Given the description of an element on the screen output the (x, y) to click on. 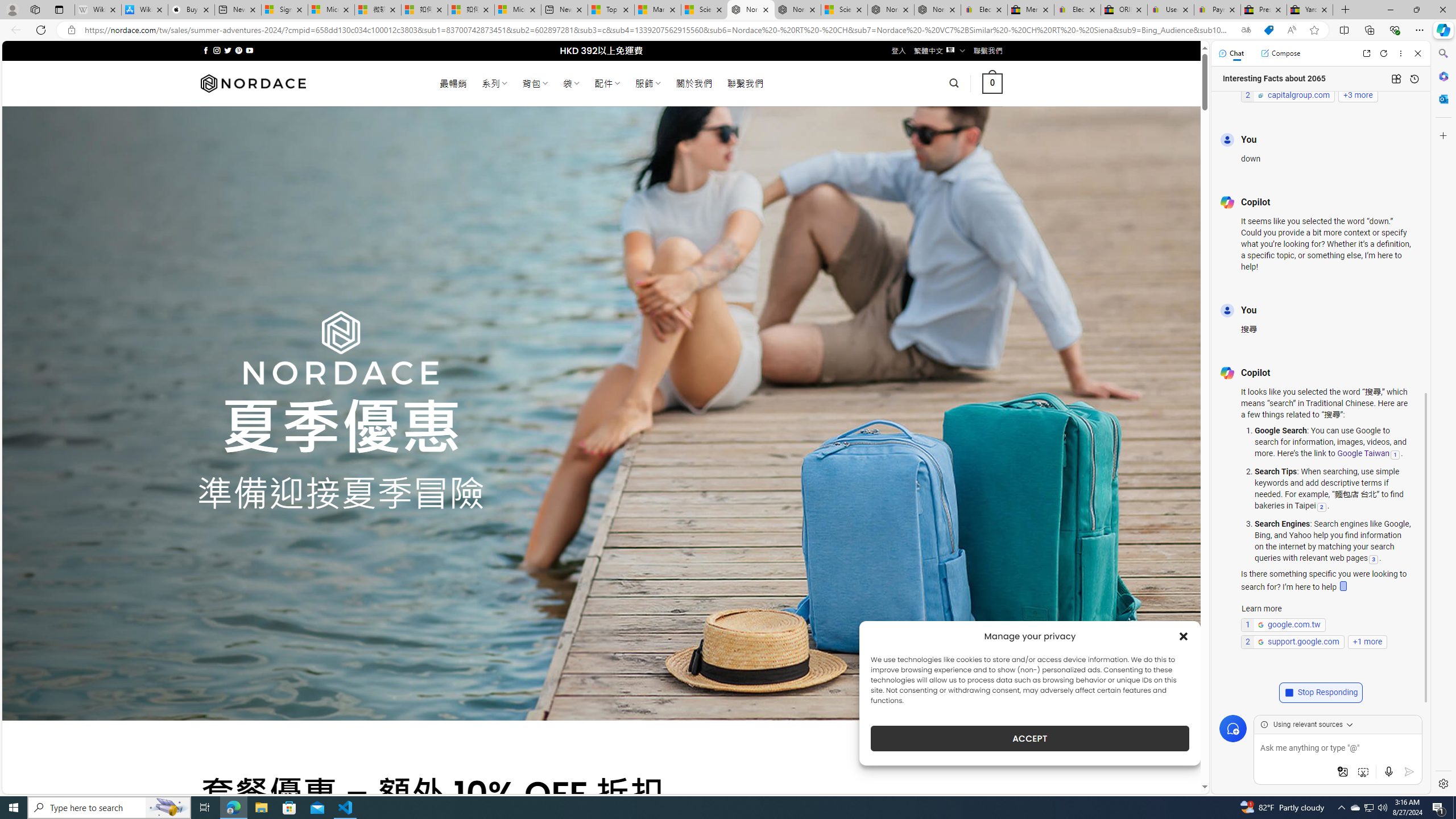
Press Room - eBay Inc. (1263, 9)
Follow on Pinterest (237, 50)
User Privacy Notice | eBay (1170, 9)
This site has coupons! Shopping in Microsoft Edge (1268, 29)
ACCEPT (1029, 738)
